Given the description of an element on the screen output the (x, y) to click on. 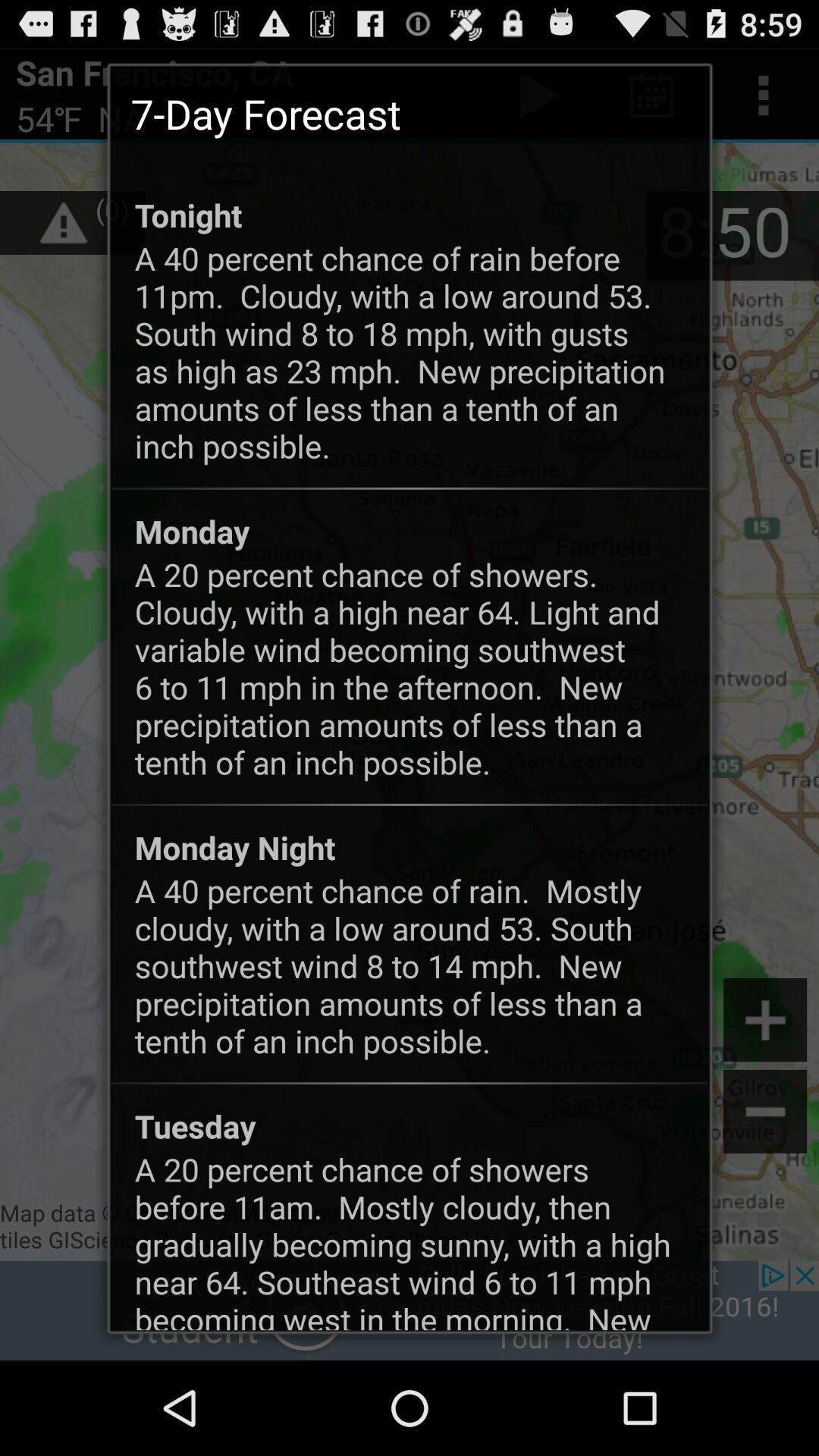
launch the tonight item (188, 214)
